Given the description of an element on the screen output the (x, y) to click on. 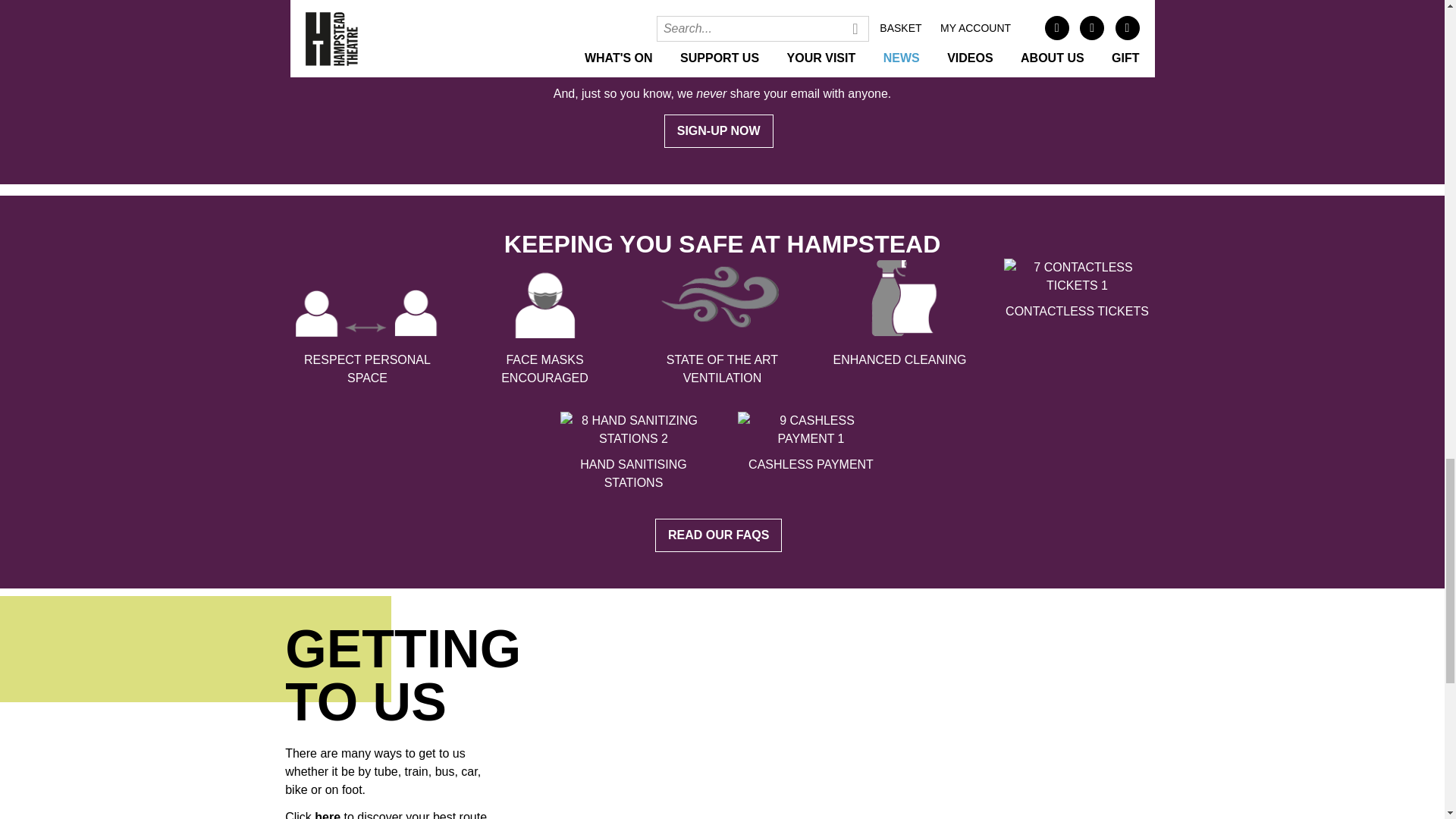
here (327, 814)
SIGN-UP NOW (721, 130)
READ OUR FAQS (722, 534)
